Given the description of an element on the screen output the (x, y) to click on. 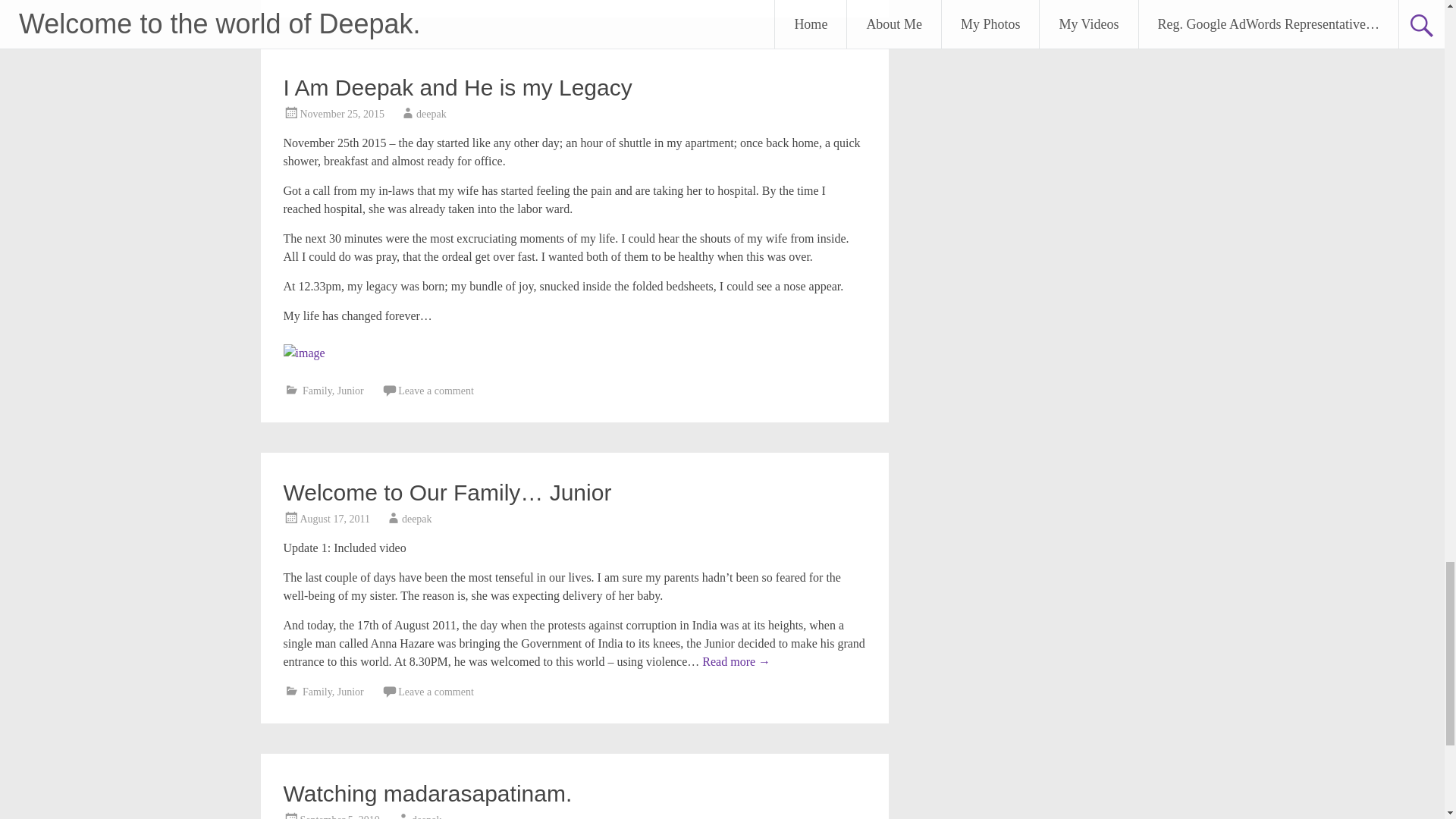
Junior (350, 390)
Family (316, 691)
Family (316, 390)
August 17, 2011 (334, 518)
Watching madarasapatinam. (427, 793)
Leave a comment (435, 390)
November 25, 2015 (342, 113)
I Am Deepak and He is my Legacy (457, 87)
Junior (350, 691)
wp-1448471276692 (303, 352)
